Given the description of an element on the screen output the (x, y) to click on. 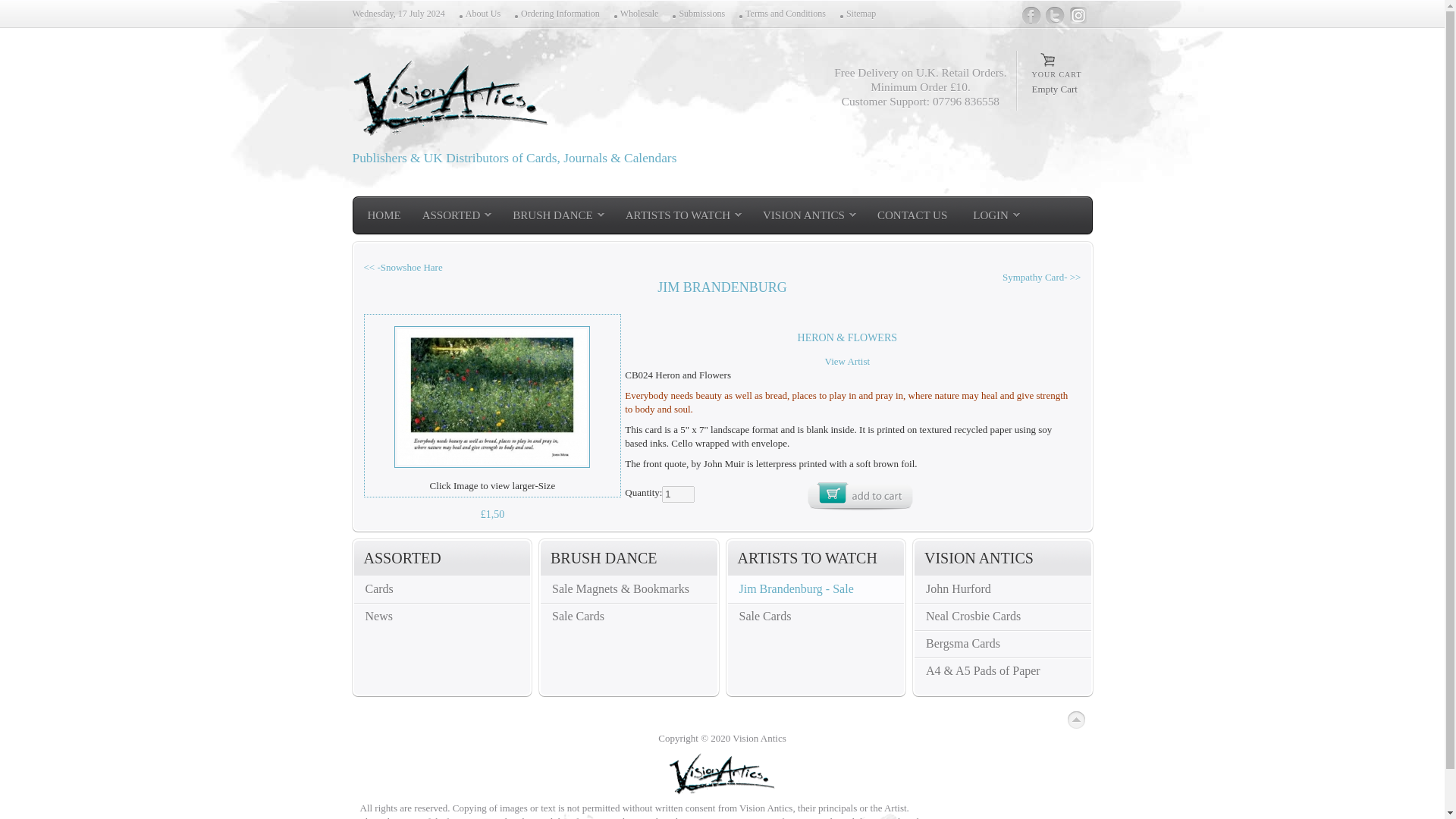
Follow Vision Antics on Twitter (1054, 13)
1 (678, 494)
About Us (478, 13)
ASSORTED (456, 215)
Terms and Conditions (780, 13)
Sitemap (856, 13)
FaceBook (1031, 13)
Twitter (1054, 13)
Instagram (1077, 13)
HOME (384, 215)
Follow Vision Antics on Instagram (1077, 13)
Vision Antics Logo (450, 97)
Vision Antics Home (722, 772)
Free Delivery on U.K. Retail Orders. (920, 72)
Like Vision Antics on FaceBook (1031, 13)
